Given the description of an element on the screen output the (x, y) to click on. 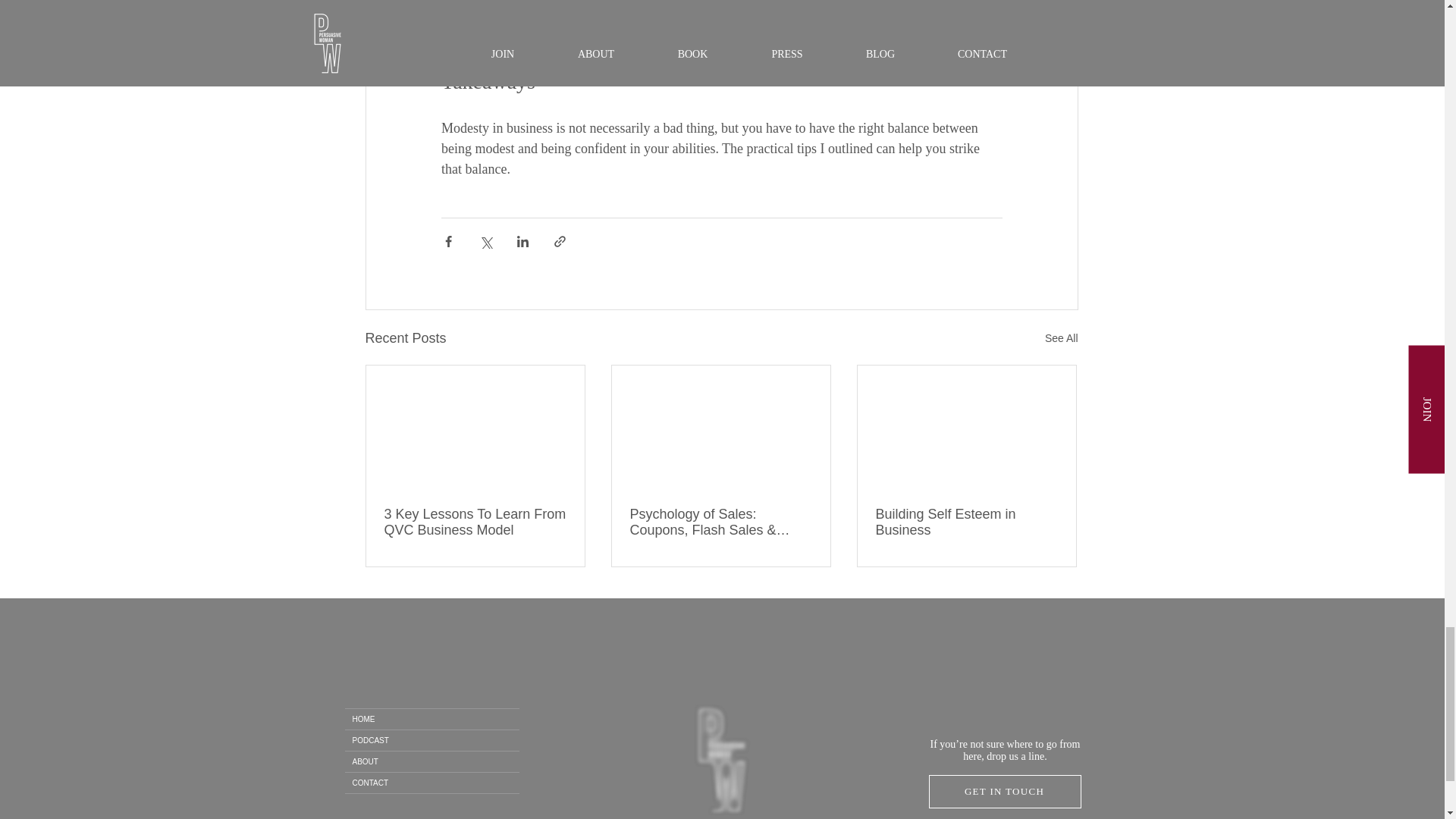
3 Key Lessons To Learn From QVC Business Model (475, 522)
Building Self Esteem in Business (966, 522)
See All (1061, 338)
CONTACT (430, 783)
PODCAST (430, 740)
GET IN TOUCH (1004, 791)
HOME (430, 719)
ABOUT (430, 761)
